Given the description of an element on the screen output the (x, y) to click on. 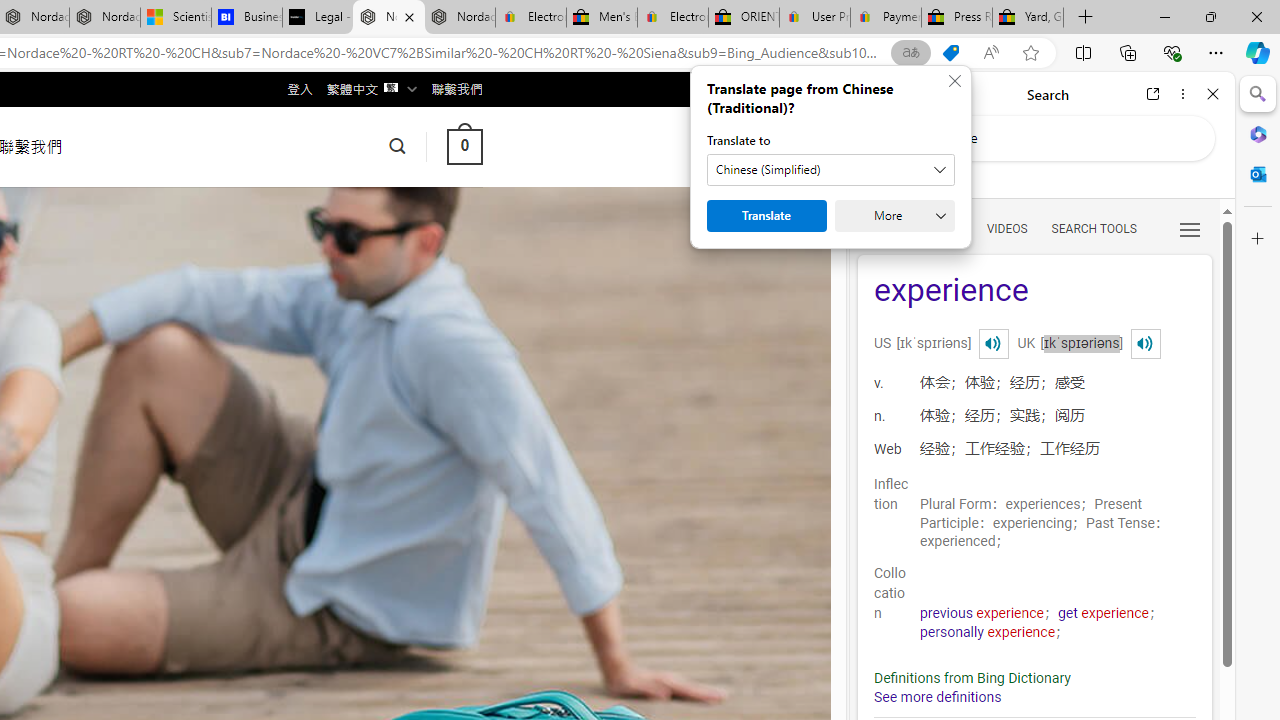
More (894, 215)
previous experience (982, 613)
Class: dict_pnIcon rms_img (1145, 343)
Show translate options (910, 53)
Translate to (830, 169)
This site has coupons! Shopping in Microsoft Edge (950, 53)
See more definitions (938, 697)
Press Room - eBay Inc. (956, 17)
